Given the description of an element on the screen output the (x, y) to click on. 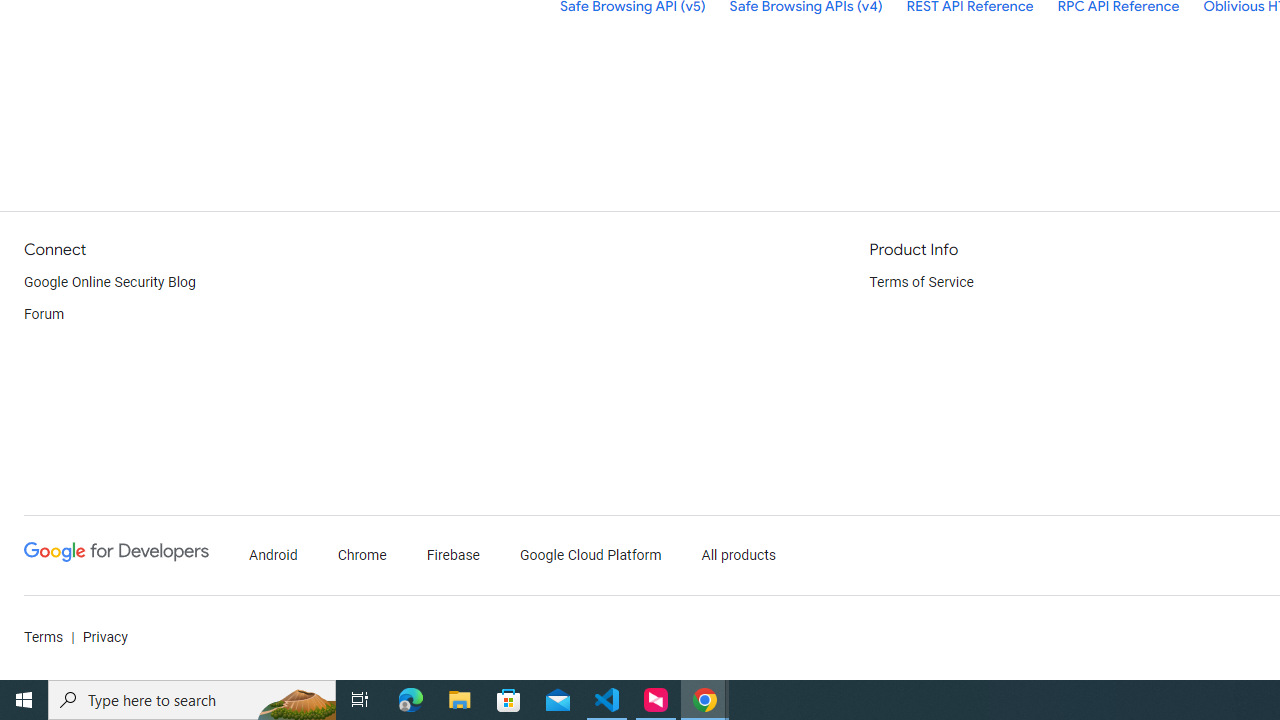
Google Online Security Blog (109, 282)
Google Developers (116, 555)
All products (738, 555)
Google Developers (116, 551)
Android (273, 555)
Terms of Service (921, 282)
Firebase (453, 555)
Google Cloud Platform (590, 555)
Terms (44, 637)
Forum (44, 314)
Privacy (104, 637)
